Given the description of an element on the screen output the (x, y) to click on. 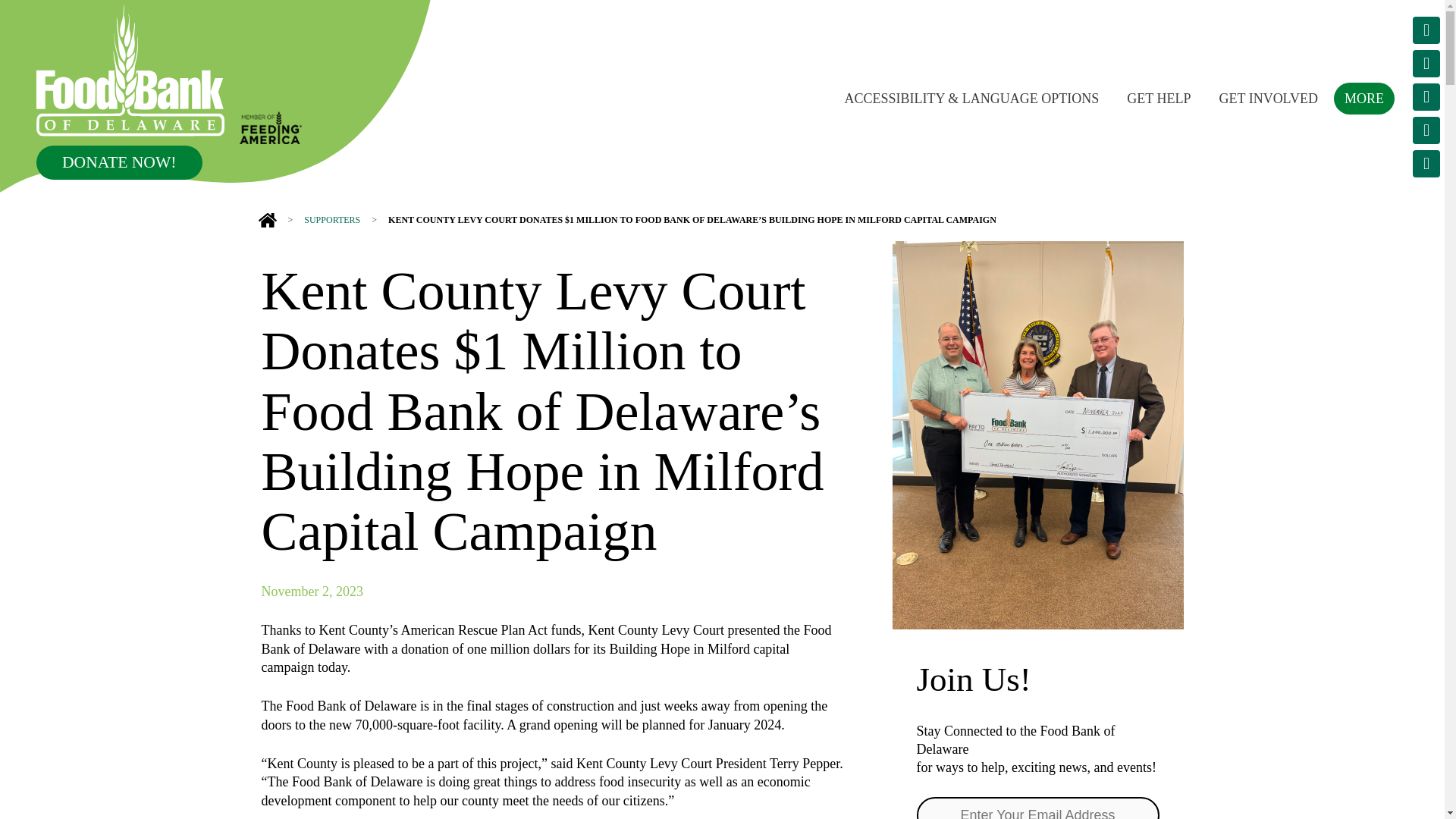
Food Bank of Delaware : Home (130, 70)
DONATE NOW! (119, 162)
Go To Instagram (1425, 62)
Go To Food Bank Blog (1425, 163)
GET INVOLVED (1268, 96)
Go To Youtube (1425, 130)
Go To Twitter (1425, 30)
GET HELP (1158, 96)
Go To Facebook (1425, 96)
